Given the description of an element on the screen output the (x, y) to click on. 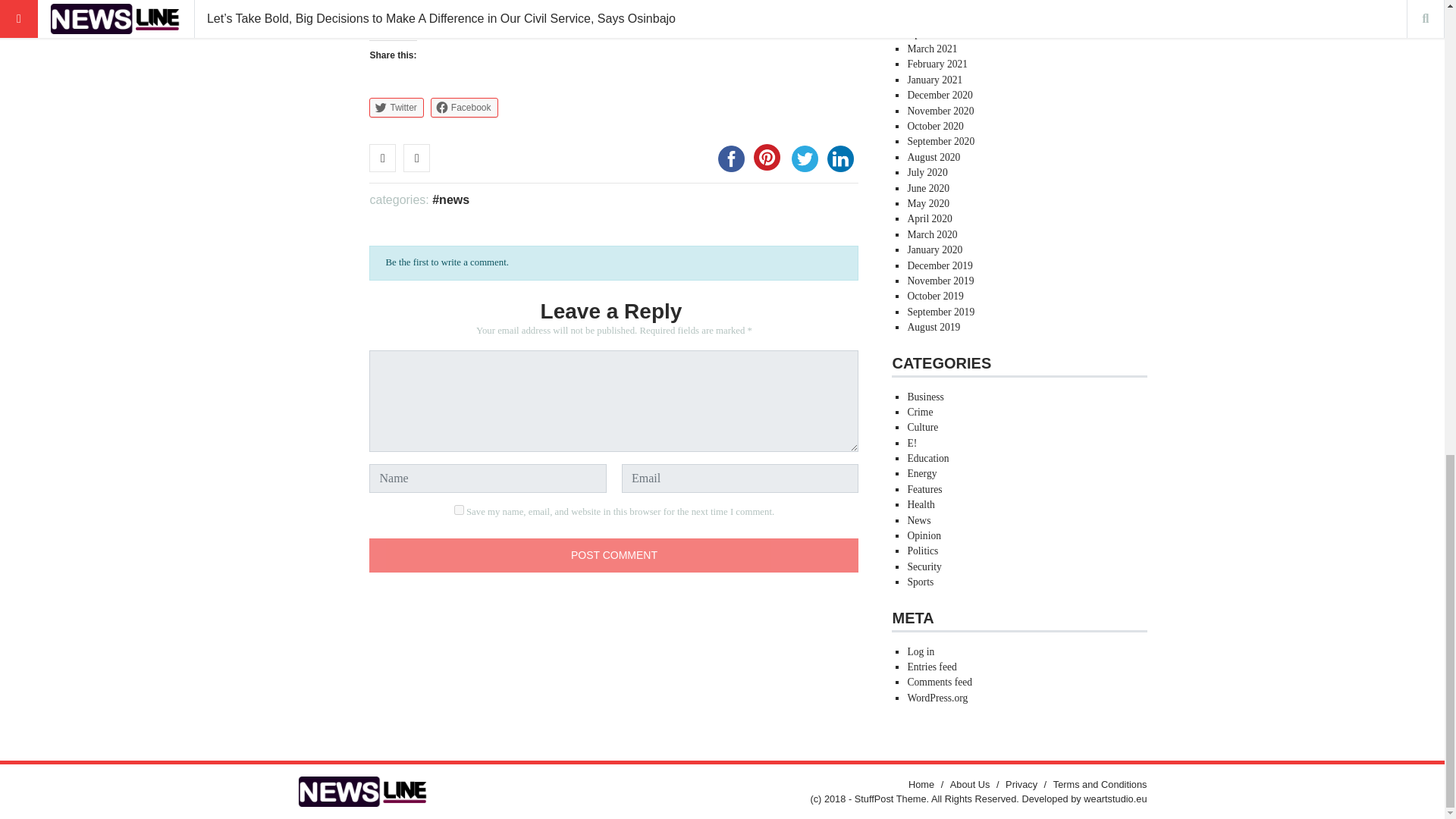
Click to share on Twitter (396, 107)
Facebook (731, 158)
yes (459, 510)
Pinterest (766, 157)
Click to share on Facebook (463, 107)
Post Comment (614, 555)
Post Comment (614, 555)
Facebook (463, 107)
Twitter (396, 107)
news (450, 199)
